Given the description of an element on the screen output the (x, y) to click on. 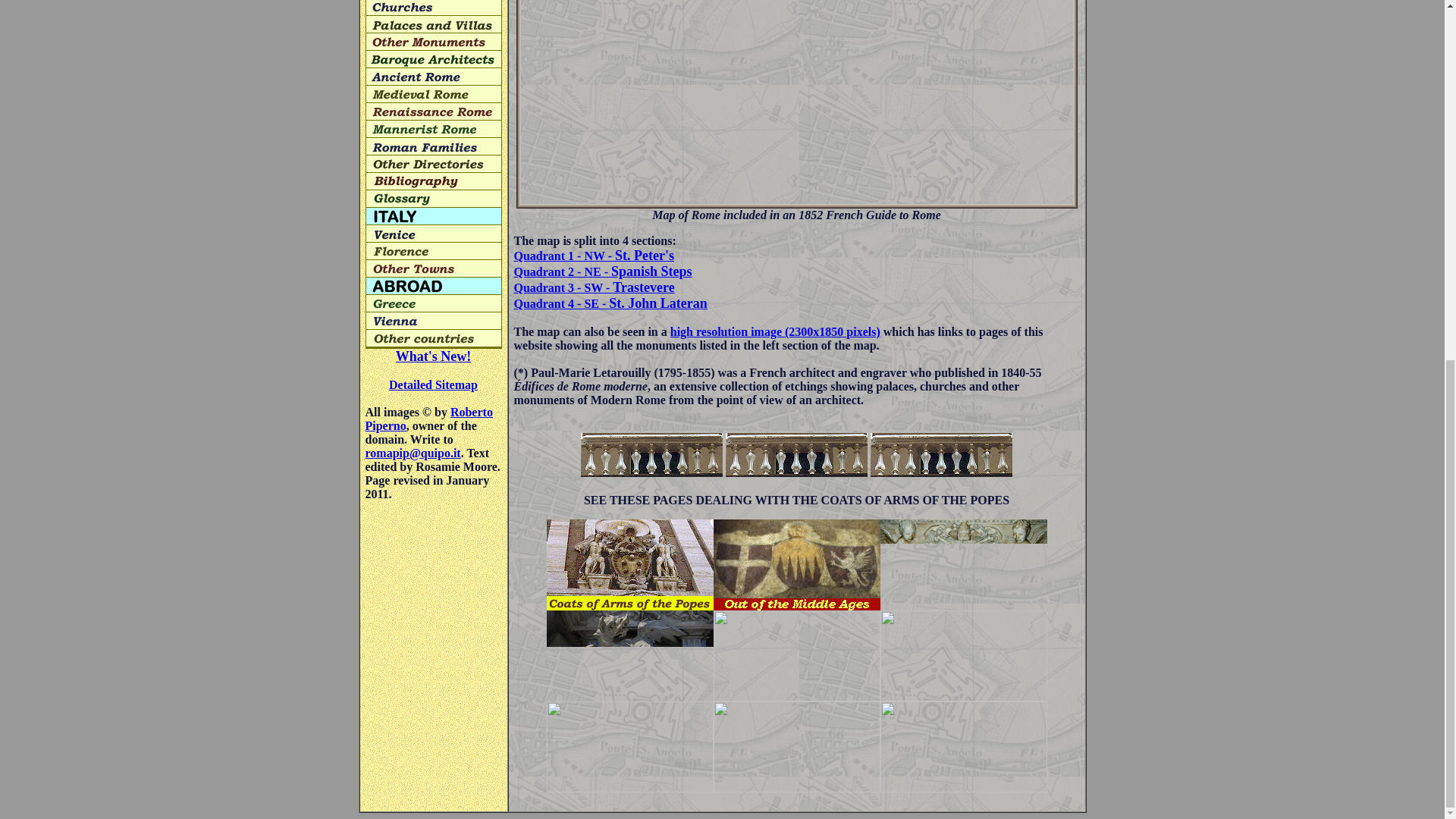
Quadrant 1 - NW - St. Peter's (593, 255)
Quadrant 2 - NE - Spanish Steps (603, 271)
What's New! (433, 355)
Quadrant 4 - SE - St. John Lateran (610, 303)
Detailed Sitemap (432, 384)
Roberto Piperno (429, 418)
Quadrant 3 - SW - Trastevere (594, 287)
